Given the description of an element on the screen output the (x, y) to click on. 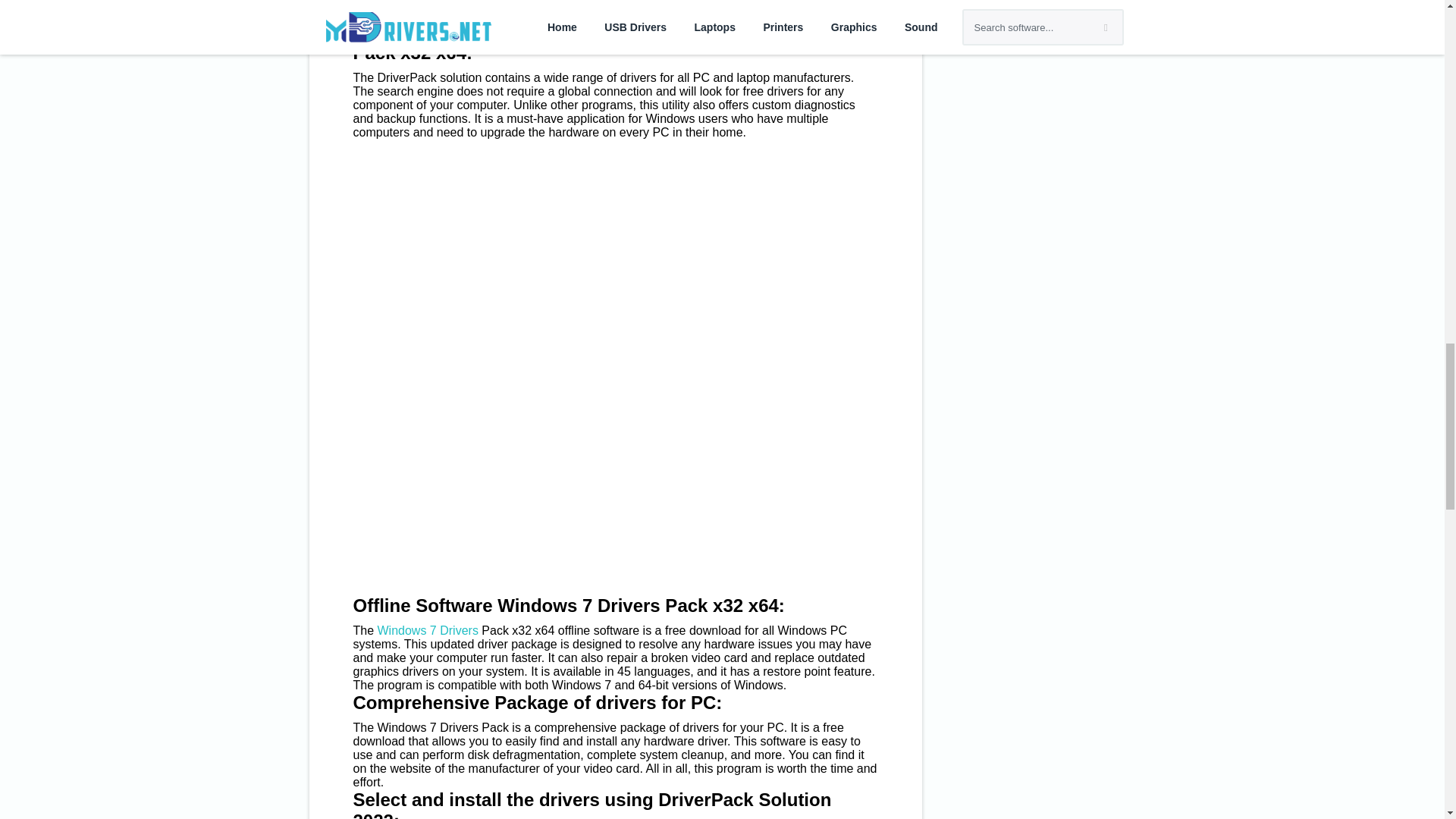
Windows 7 Drivers (428, 630)
